Given the description of an element on the screen output the (x, y) to click on. 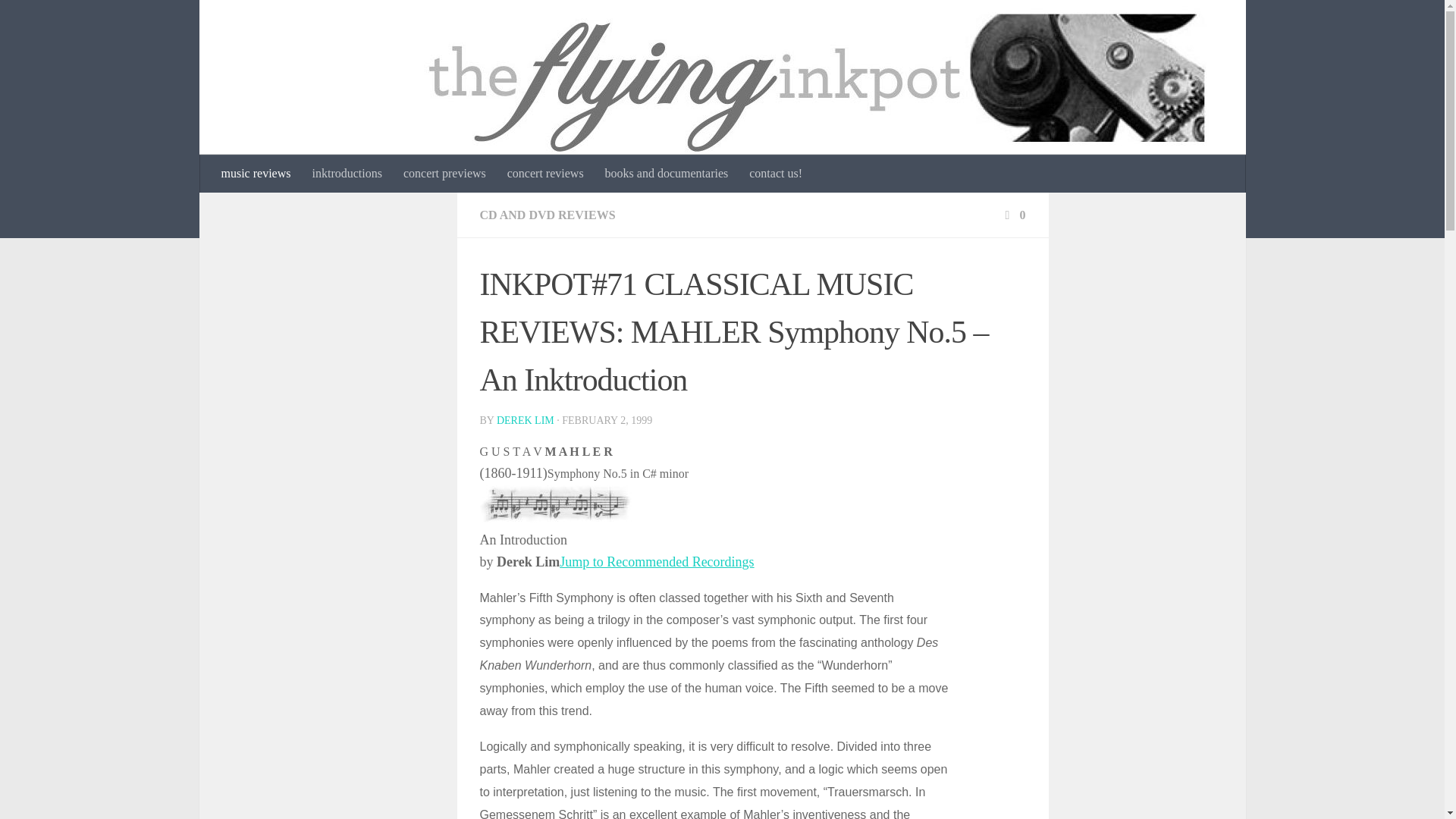
CD AND DVD REVIEWS (546, 214)
Jump to Recommended Recordings (656, 561)
0 (1013, 214)
concert previews (444, 173)
inktroductions (346, 173)
Posts by Derek Lim (525, 419)
DEREK LIM (525, 419)
concert reviews (545, 173)
Skip to content (59, 20)
books and documentaries (666, 173)
